Given the description of an element on the screen output the (x, y) to click on. 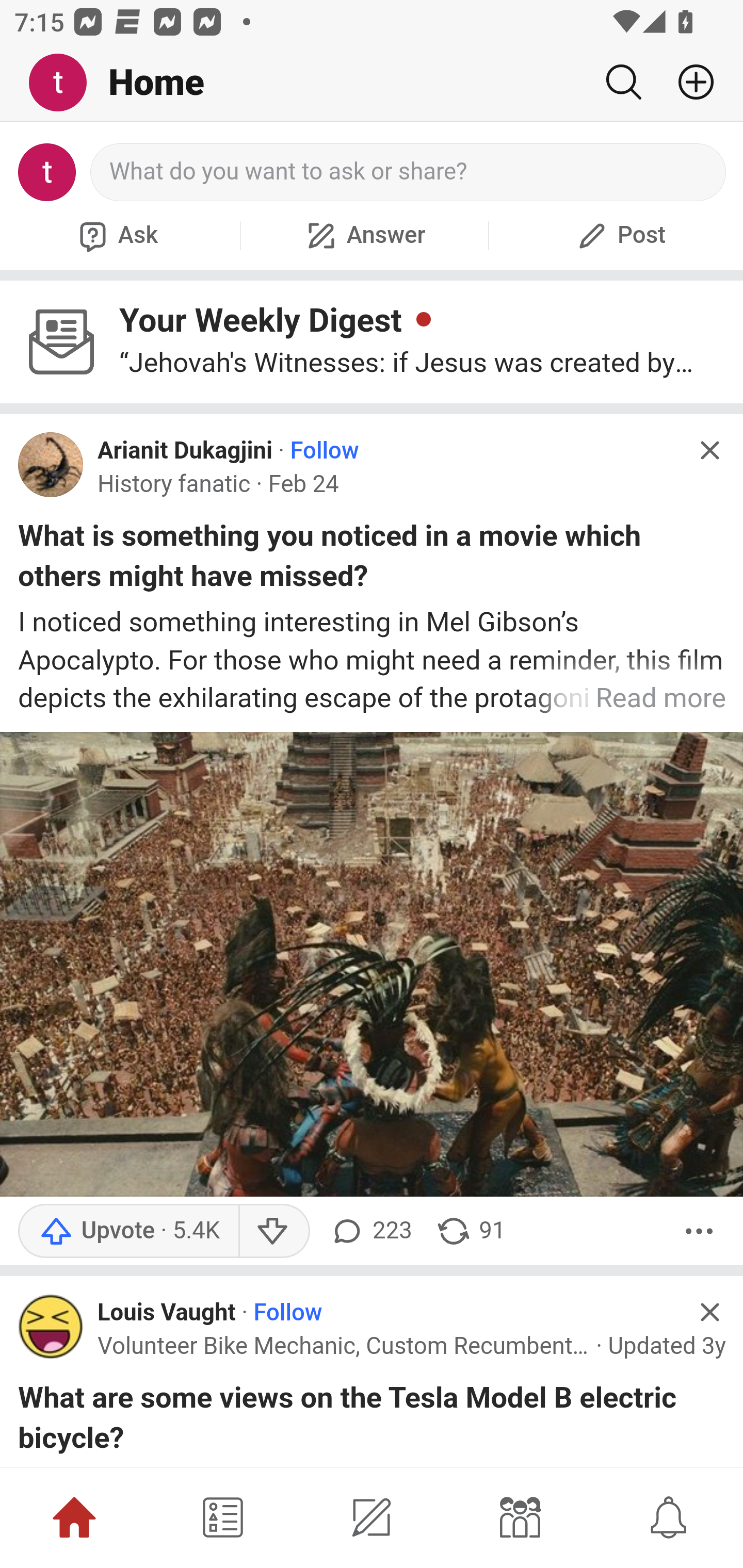
Me Home Search Add (371, 82)
Me (64, 83)
Search (623, 82)
Add (688, 82)
